Given the description of an element on the screen output the (x, y) to click on. 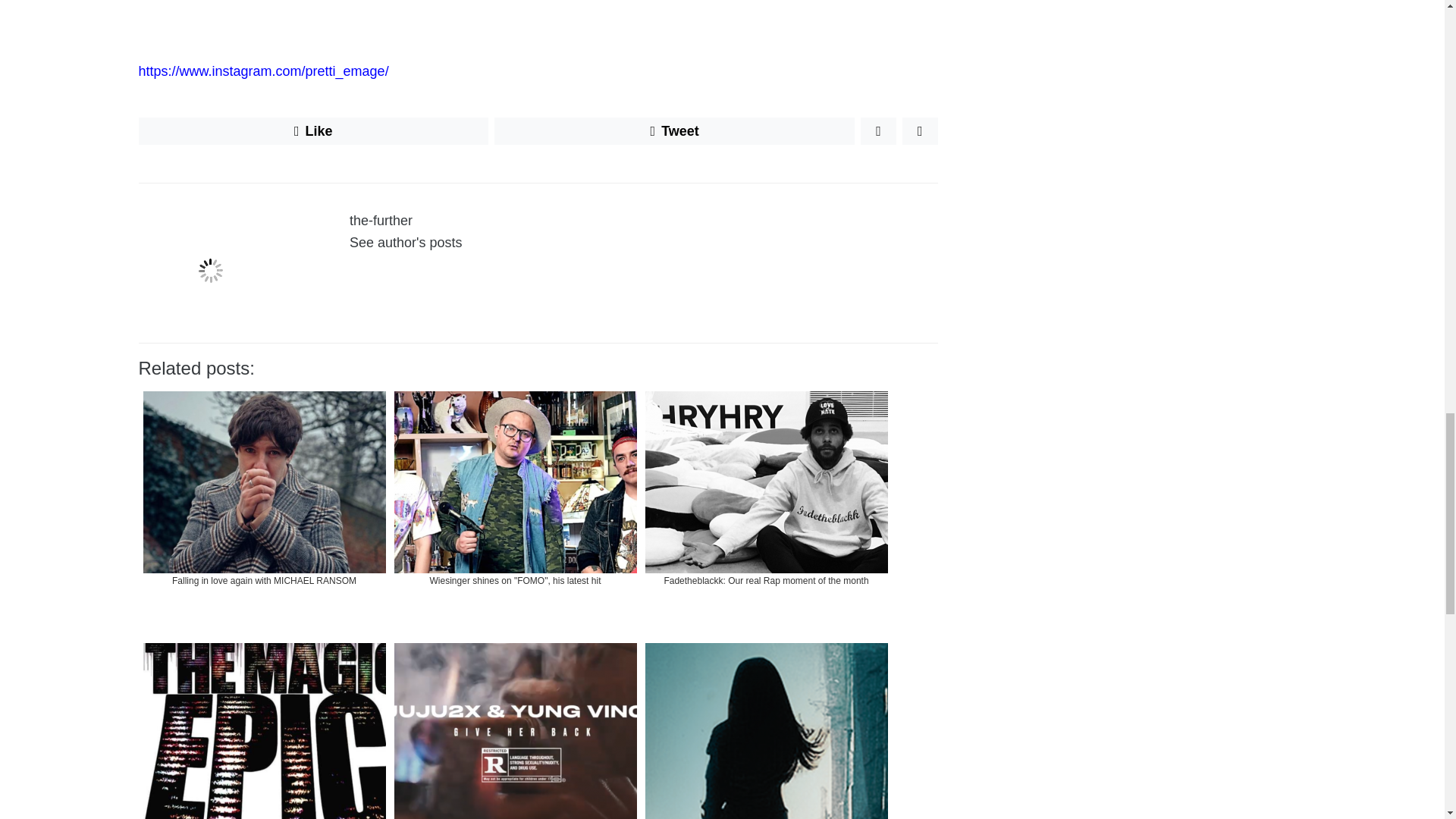
Tweet (674, 130)
Spotify Embed: Beast Mode (537, 22)
Falling in love again with MICHAEL RANSOM (264, 510)
Fadetheblackk: Our real Rap moment of the month (765, 510)
Wiesinger shines on "FOMO", his latest hit (516, 510)
Like (312, 130)
the-further (380, 220)
Back to 'Summer' with THE MAGIC EPIC (264, 728)
